Given the description of an element on the screen output the (x, y) to click on. 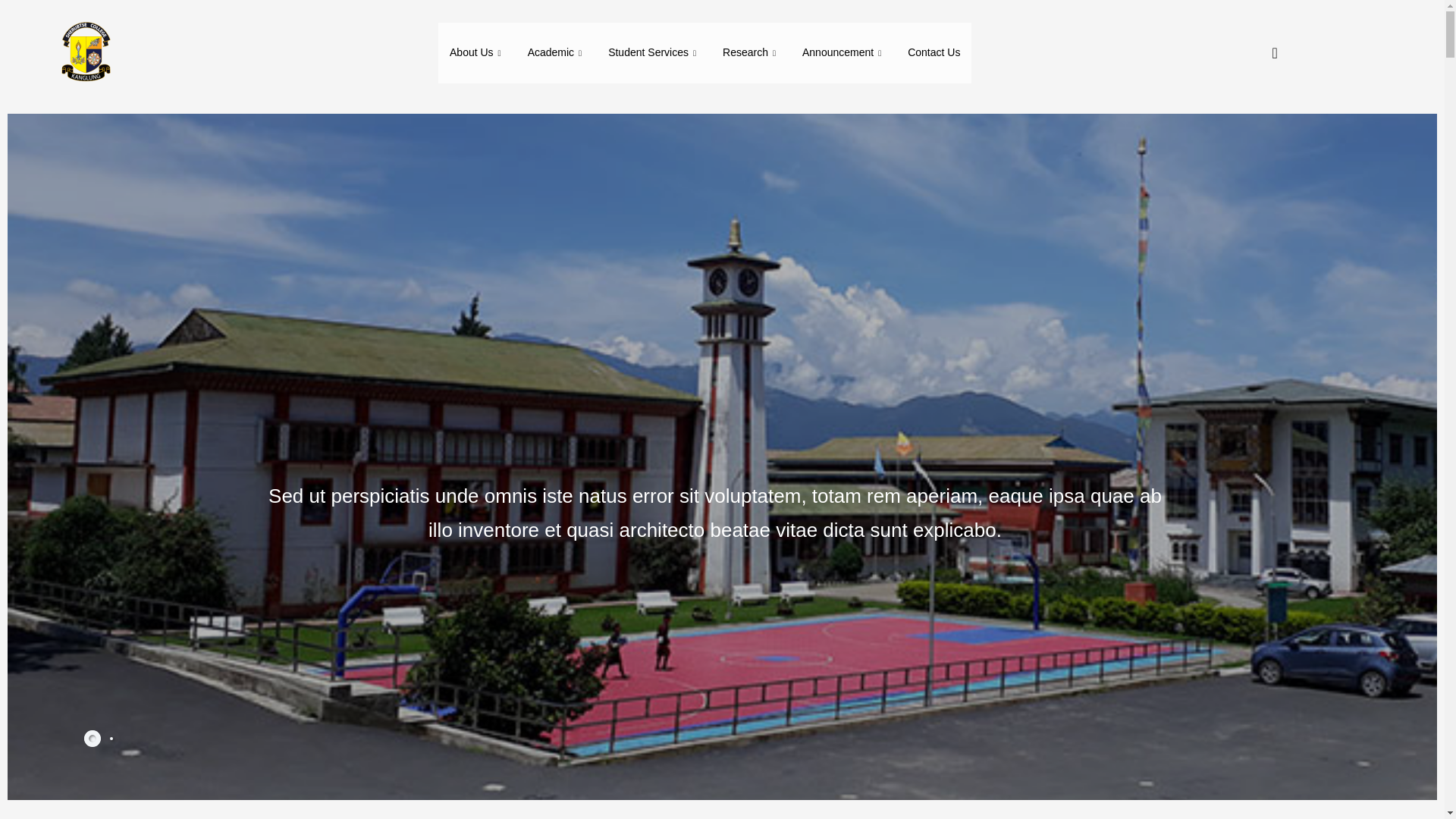
Academic (556, 52)
logo-removebg-preview-1 (84, 52)
Announcement (843, 52)
Student Services (653, 52)
About Us (477, 52)
Contact Us (933, 52)
Research (750, 52)
